Given the description of an element on the screen output the (x, y) to click on. 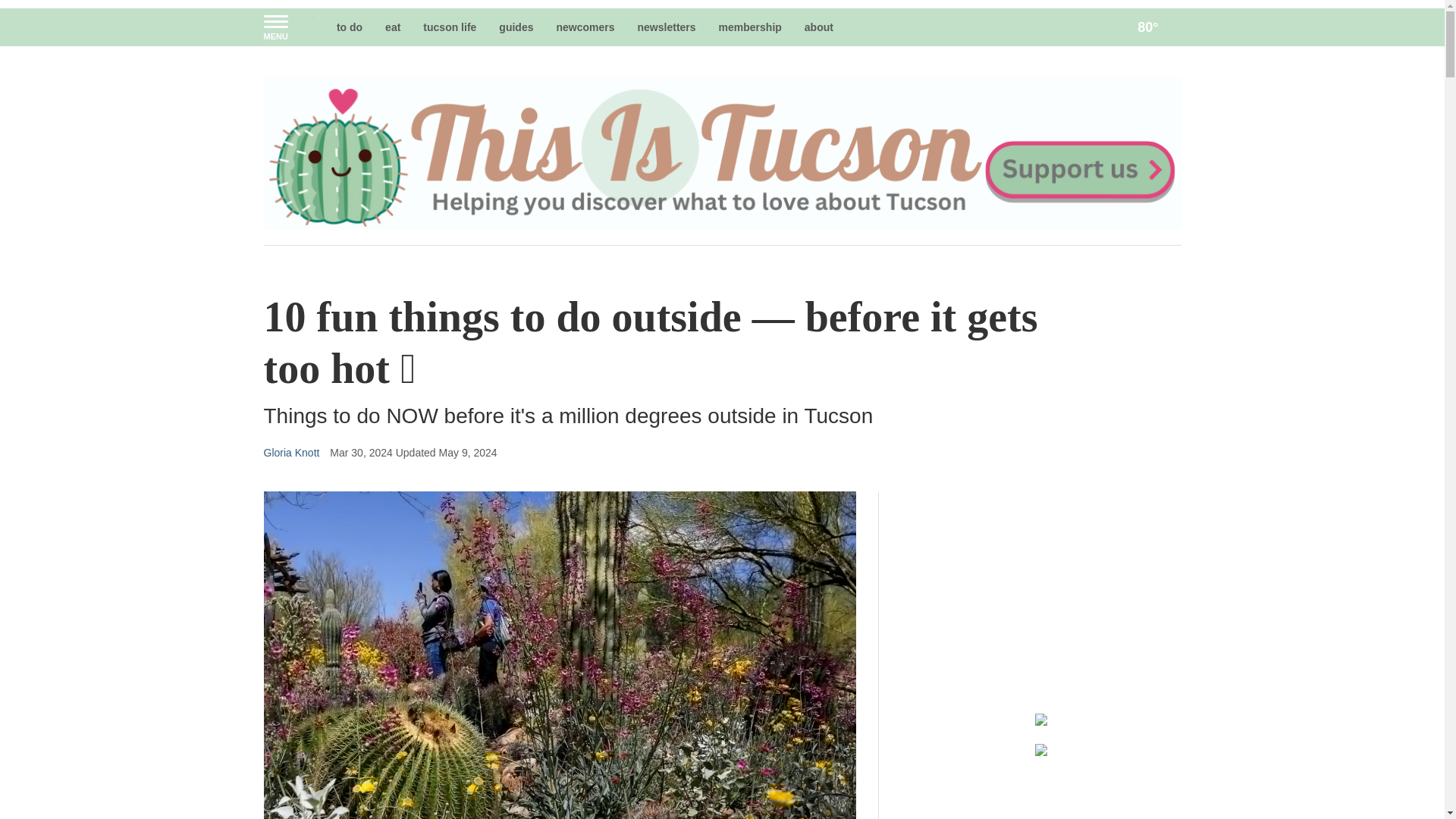
to do (349, 26)
guides (515, 26)
eat (393, 26)
tucson life (449, 26)
MENU (274, 26)
